Given the description of an element on the screen output the (x, y) to click on. 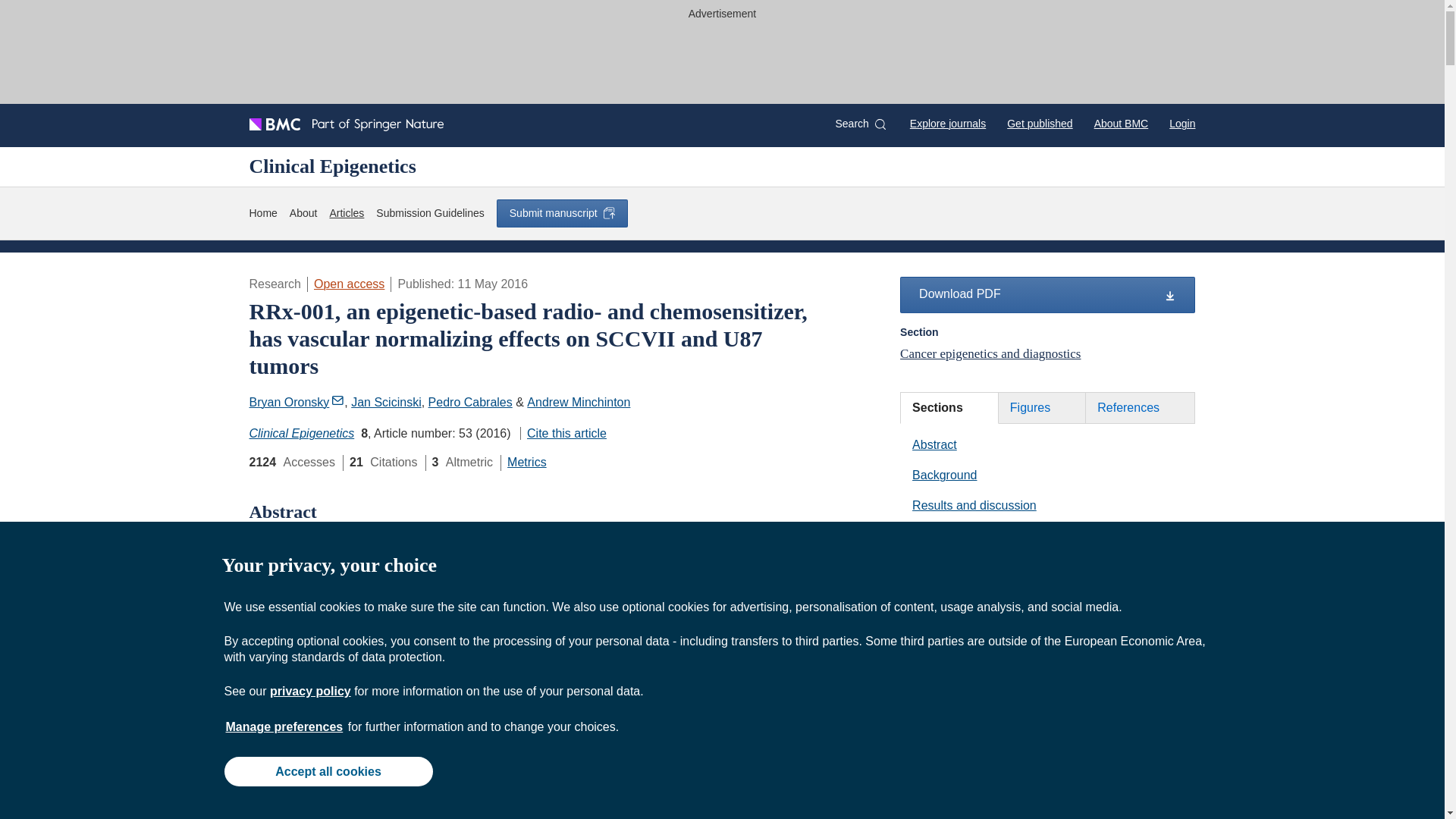
Manage preferences (284, 726)
Articles (346, 212)
Clinical Epigenetics (331, 166)
Cite this article (563, 432)
Get published (1039, 123)
privacy policy (309, 690)
Submission Guidelines (429, 212)
Submit manuscript (561, 212)
Jan Scicinski (385, 401)
Pedro Cabrales (470, 401)
Search (859, 123)
Home (262, 212)
Metrics (526, 461)
Login (1182, 123)
